Given the description of an element on the screen output the (x, y) to click on. 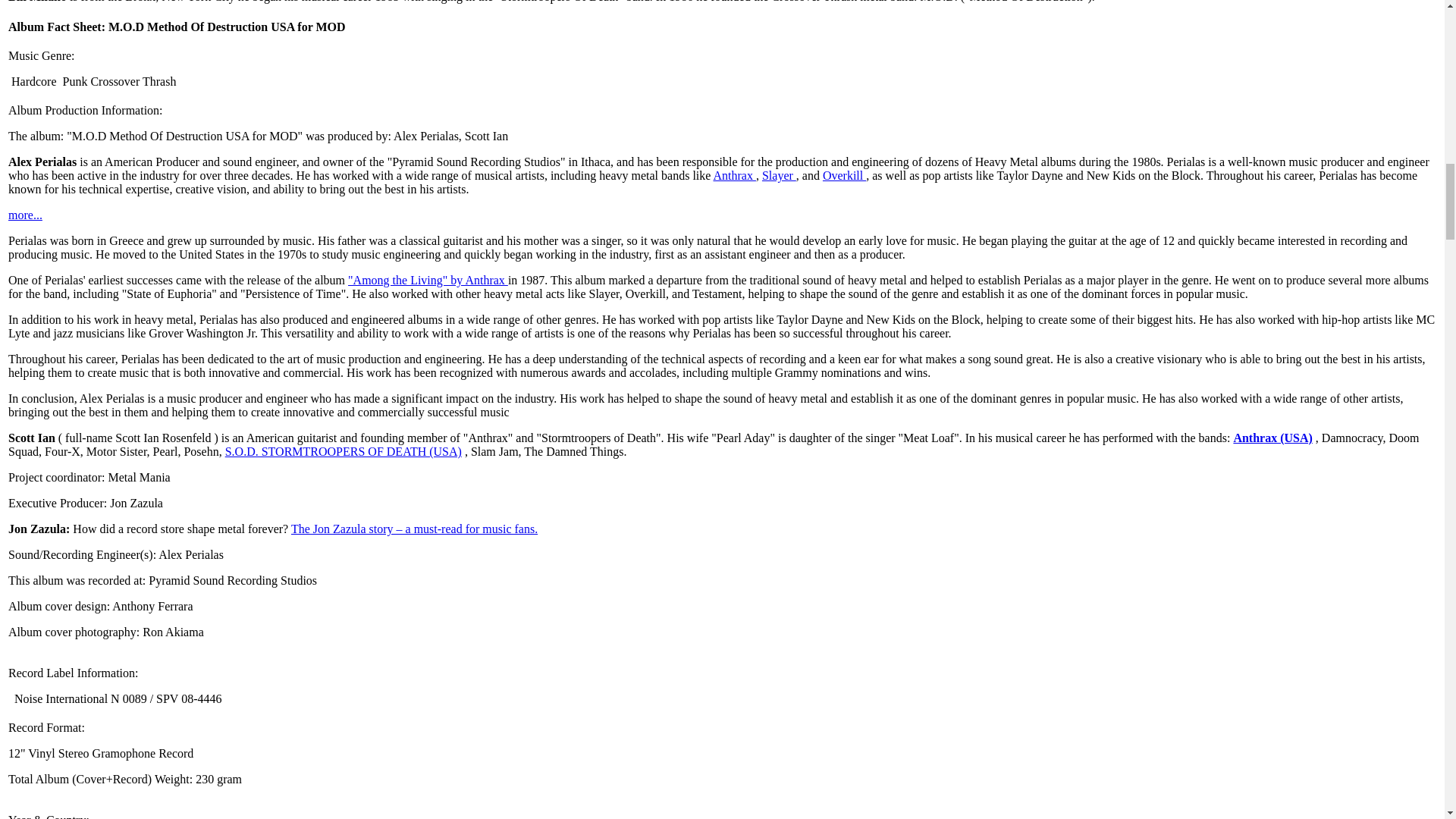
"Among the Living" by Anthrax (427, 279)
Slayer (778, 174)
Anthrax (734, 174)
Overkill (844, 174)
more... (25, 214)
